Given the description of an element on the screen output the (x, y) to click on. 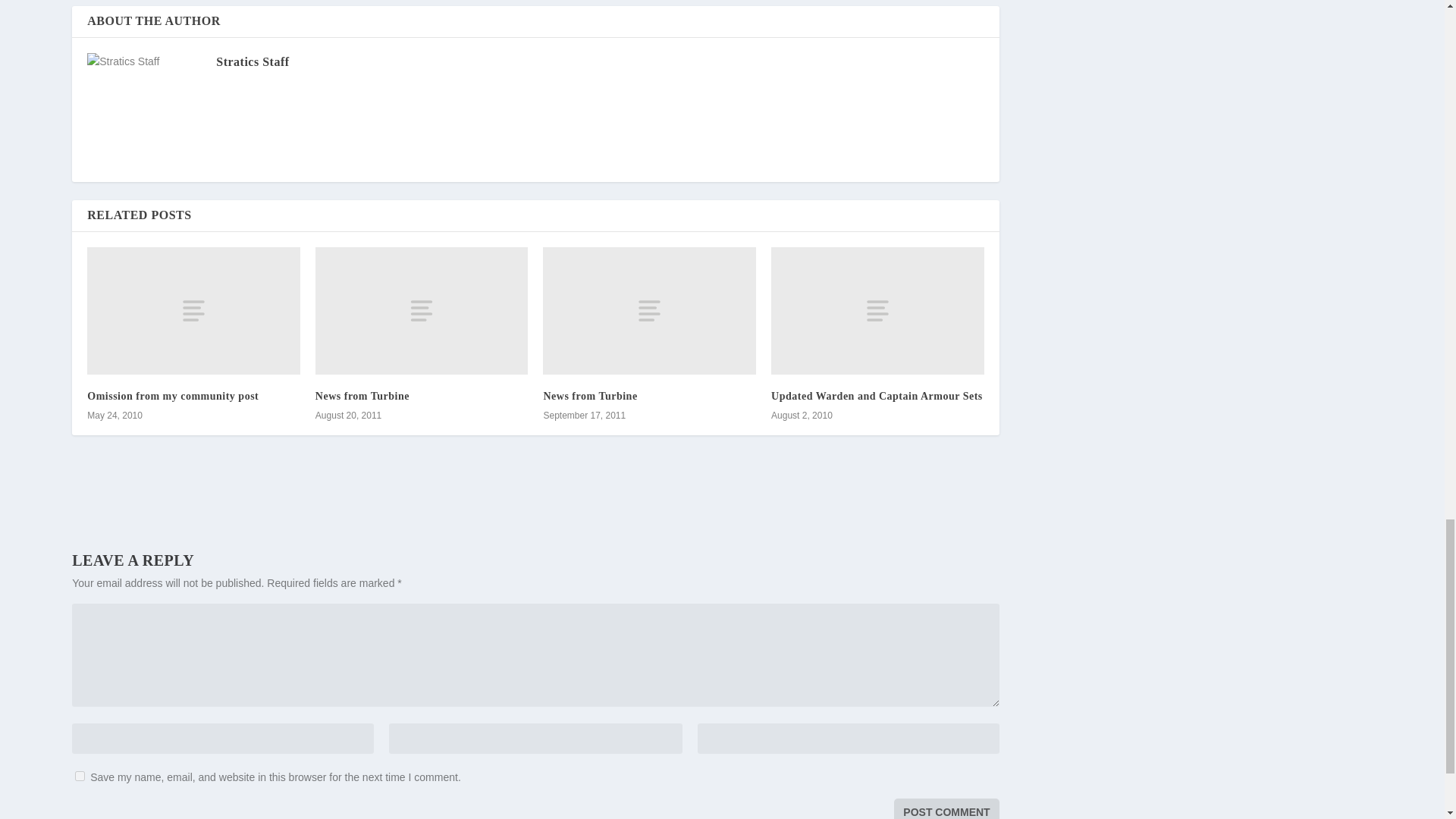
Post Comment (945, 808)
yes (79, 776)
